Given the description of an element on the screen output the (x, y) to click on. 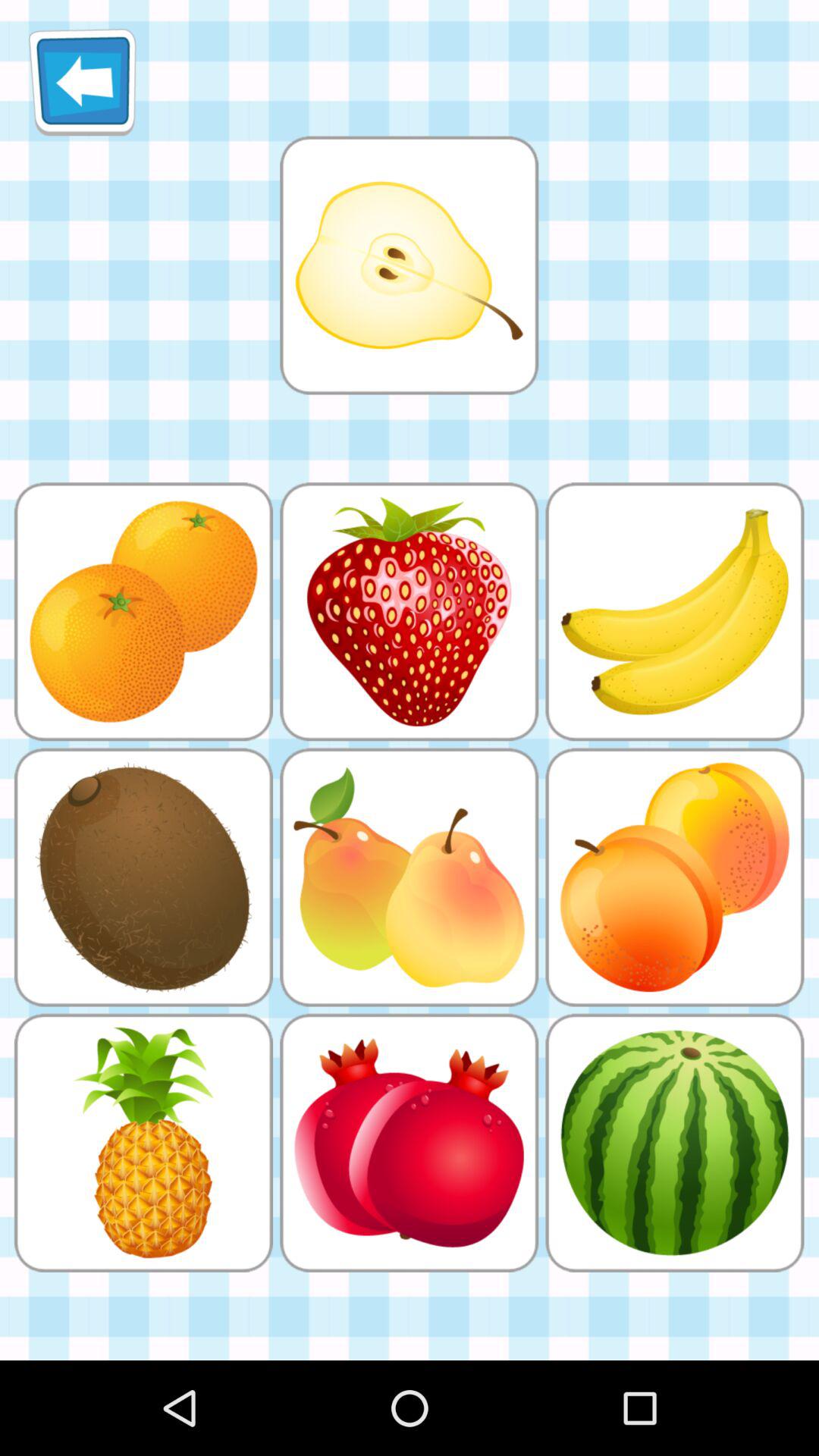
select the pear (409, 265)
